Given the description of an element on the screen output the (x, y) to click on. 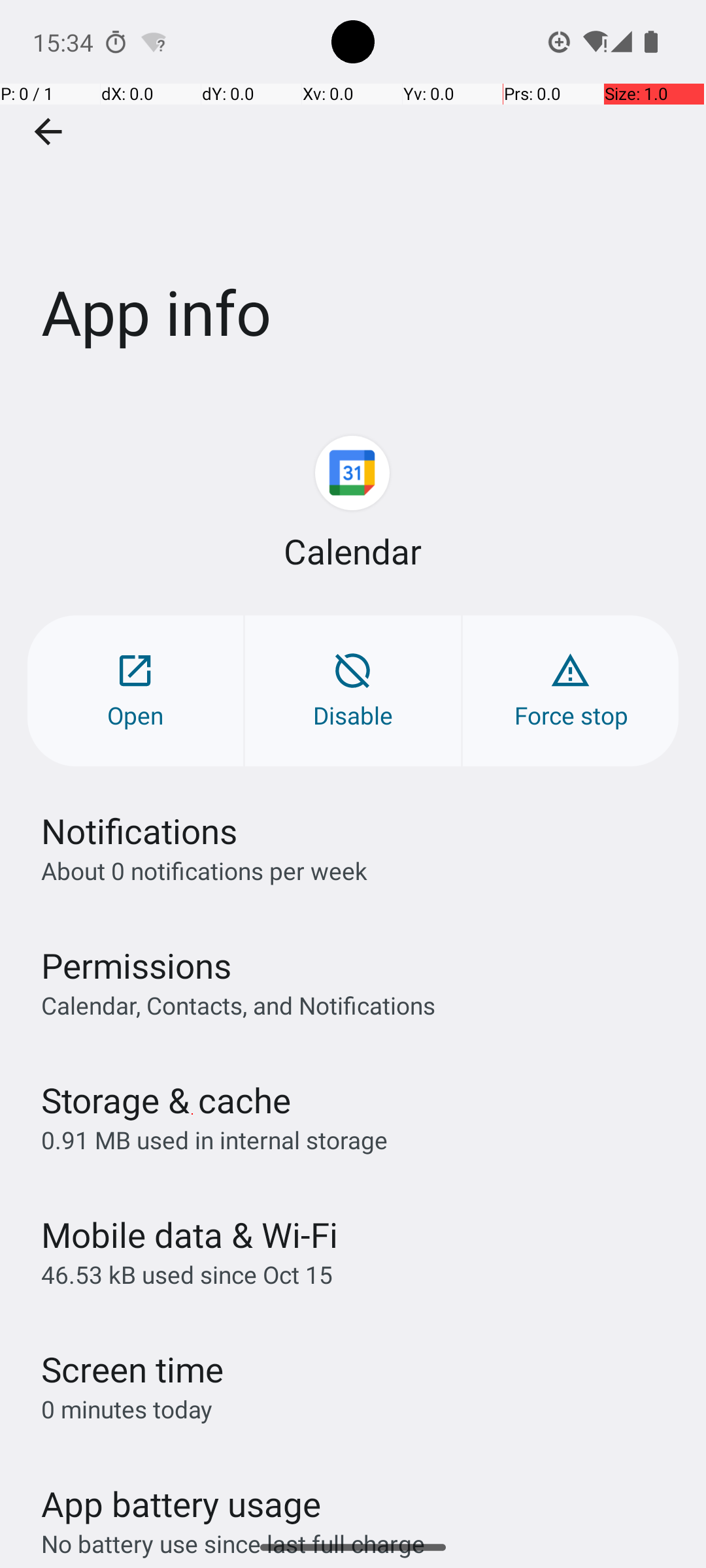
Calendar, Contacts, and Notifications Element type: android.widget.TextView (238, 1004)
0.91 MB used in internal storage Element type: android.widget.TextView (214, 1139)
46.53 kB used since Oct 15 Element type: android.widget.TextView (186, 1273)
0 minutes today Element type: android.widget.TextView (127, 1408)
